Given the description of an element on the screen output the (x, y) to click on. 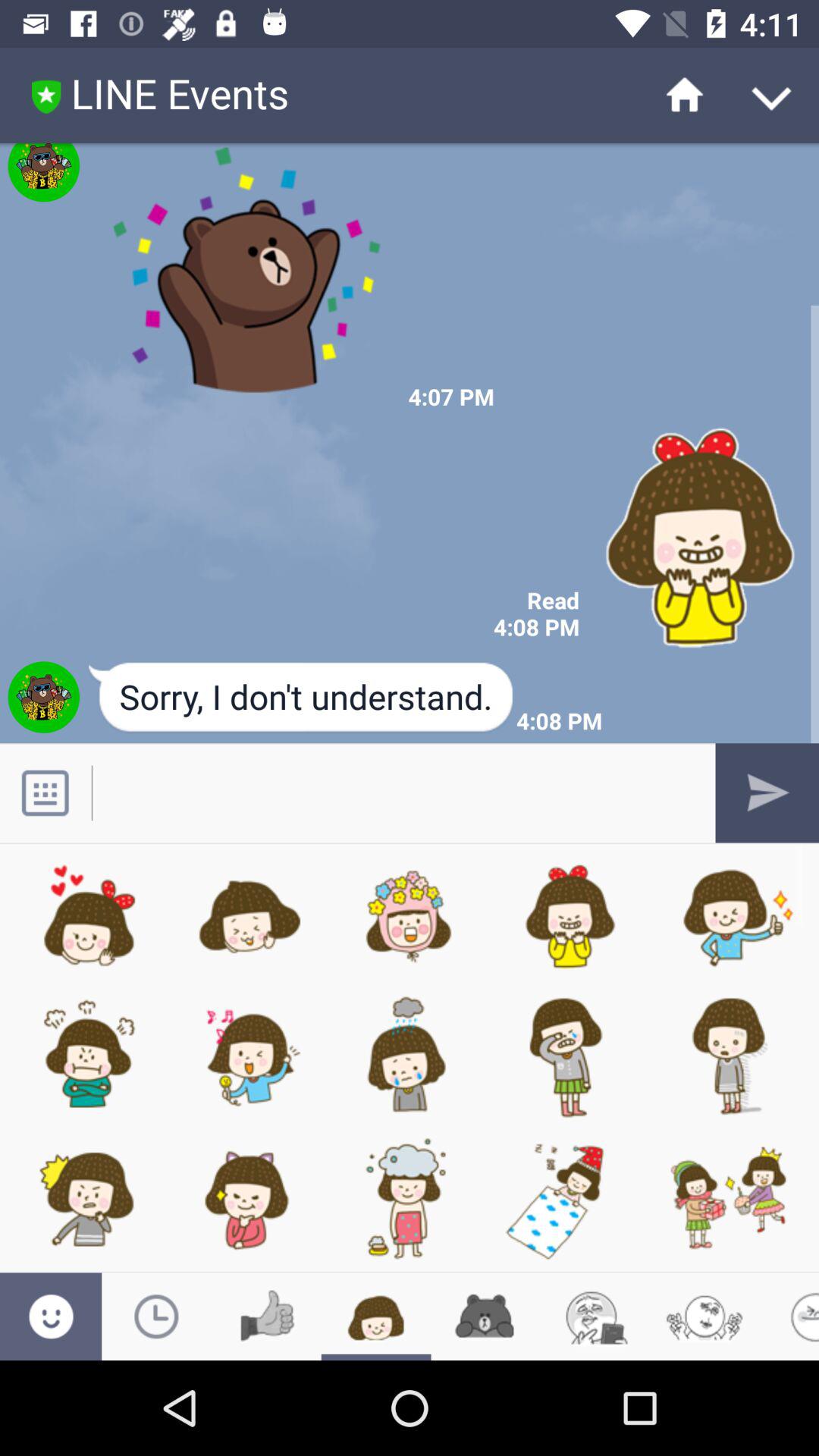
text box (393, 792)
